Given the description of an element on the screen output the (x, y) to click on. 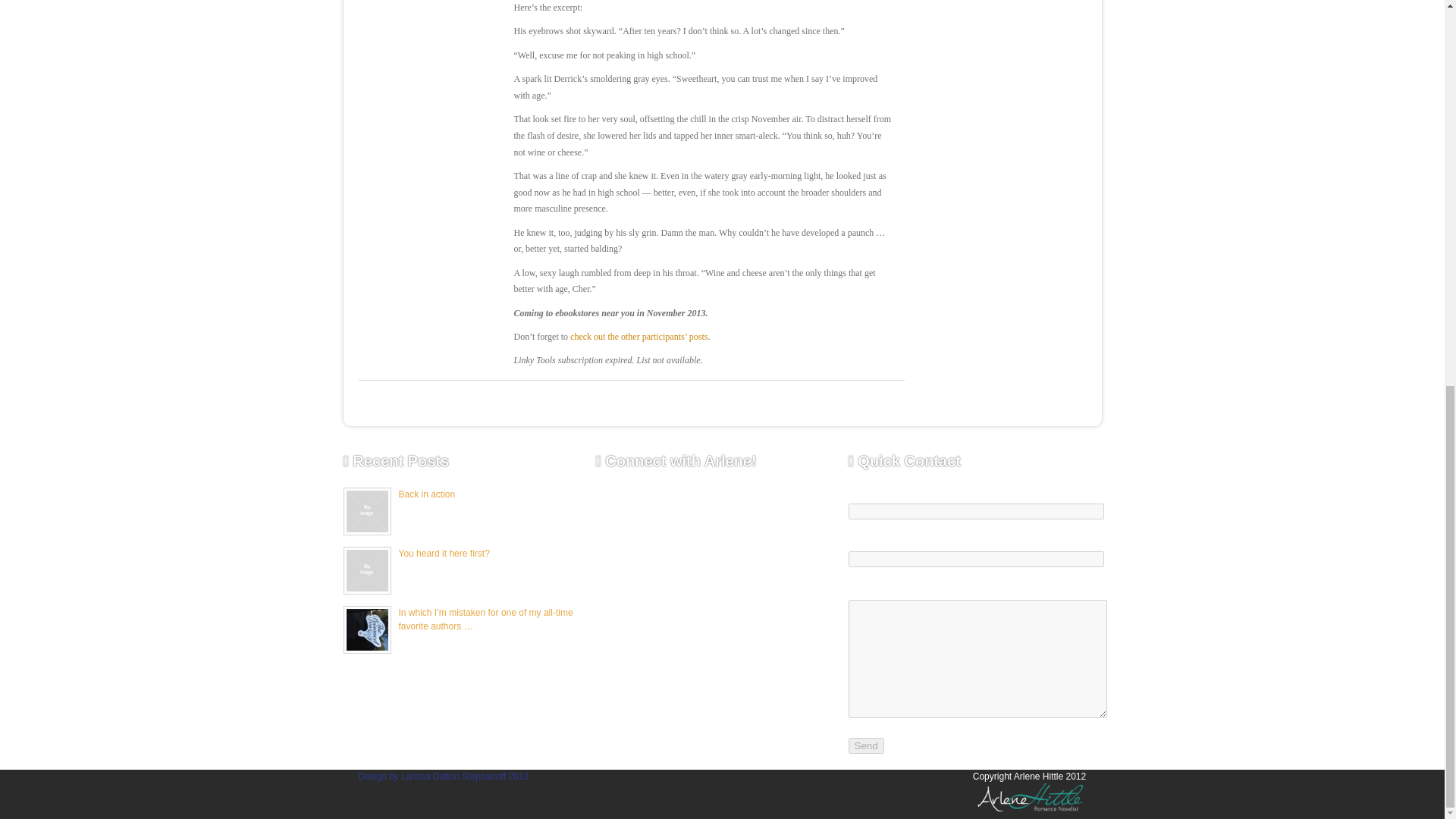
Back in action (426, 493)
Send (865, 745)
goodreads (636, 575)
You heard it here first? (443, 552)
Pinterest (699, 575)
Facebook (636, 511)
You heard it here first? (443, 552)
Back in action (426, 493)
Send (865, 745)
Instagram (764, 575)
Design by Larissa Dalton Stephanoff 2013 (443, 776)
Twitter (699, 511)
